Given the description of an element on the screen output the (x, y) to click on. 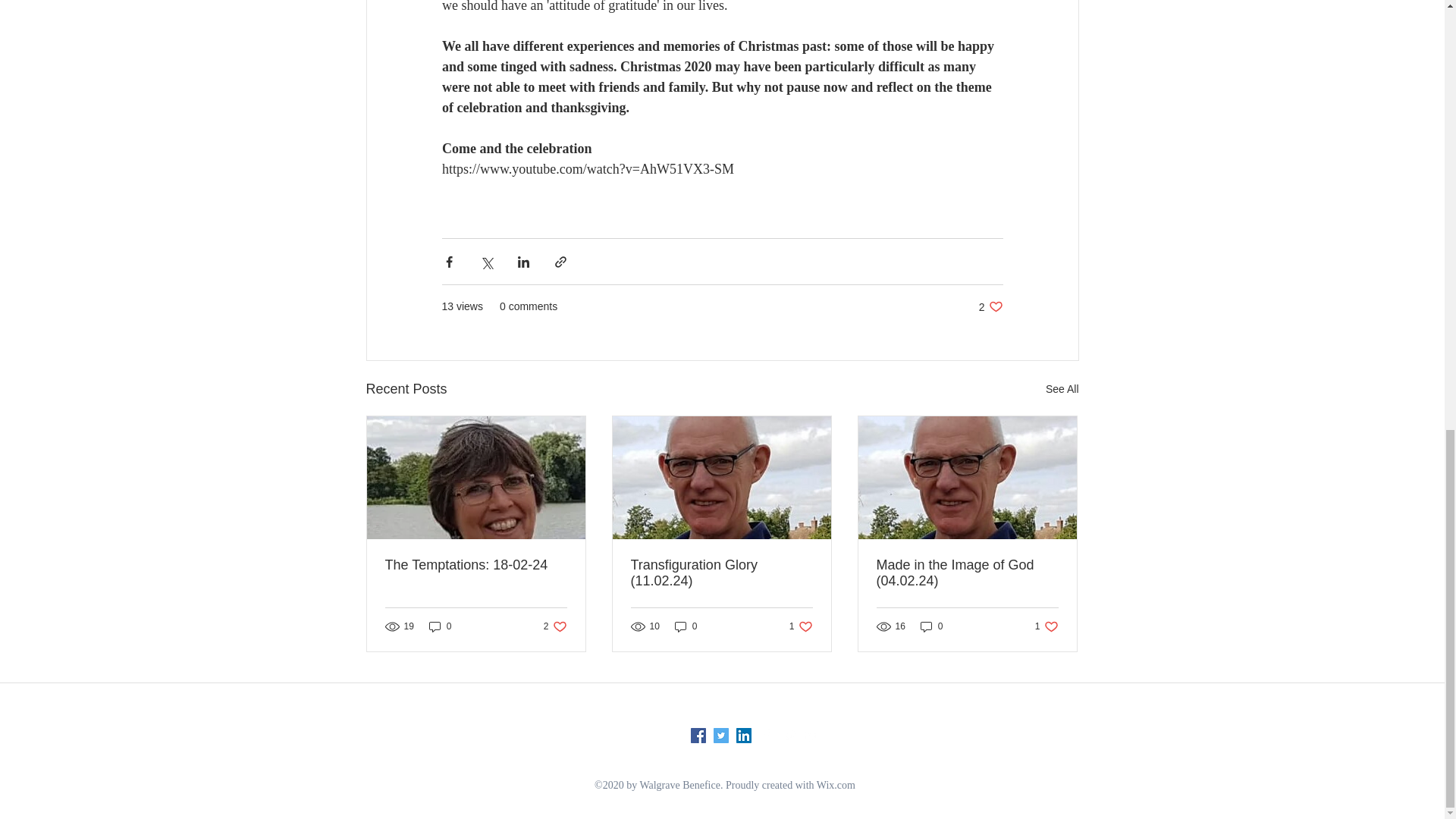
0 (440, 626)
See All (1061, 389)
The Temptations: 18-02-24 (990, 306)
